Given the description of an element on the screen output the (x, y) to click on. 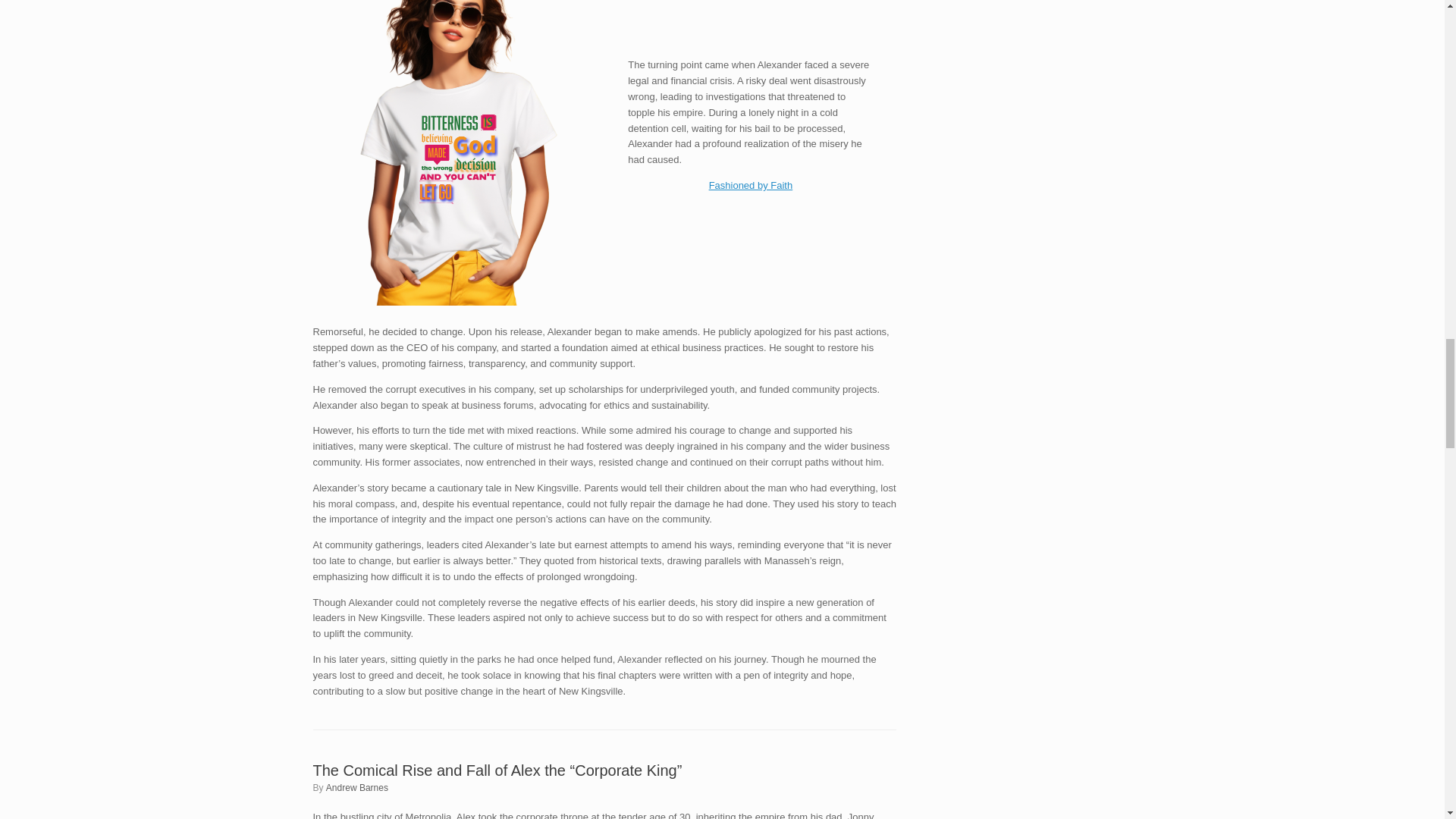
View all posts by Andrew Barnes (357, 787)
Fashioned by Faith (751, 184)
Andrew Barnes (357, 787)
